Given the description of an element on the screen output the (x, y) to click on. 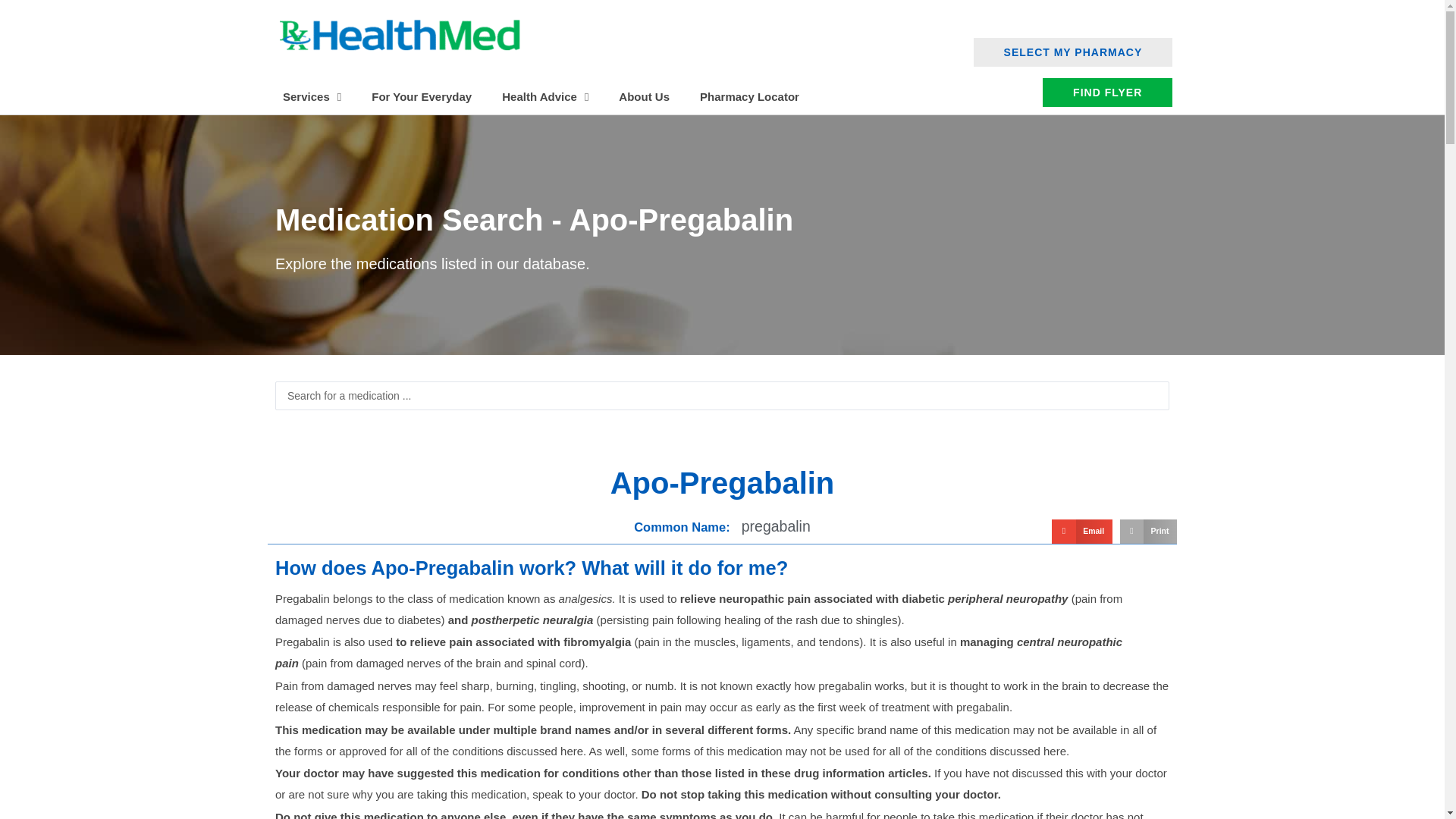
About Us (644, 96)
SELECT MY PHARMACY (1073, 51)
Health Advice (545, 96)
Pharmacy Locator (748, 96)
For Your Everyday (421, 96)
FIND FLYER (1107, 92)
Services (311, 96)
